Given the description of an element on the screen output the (x, y) to click on. 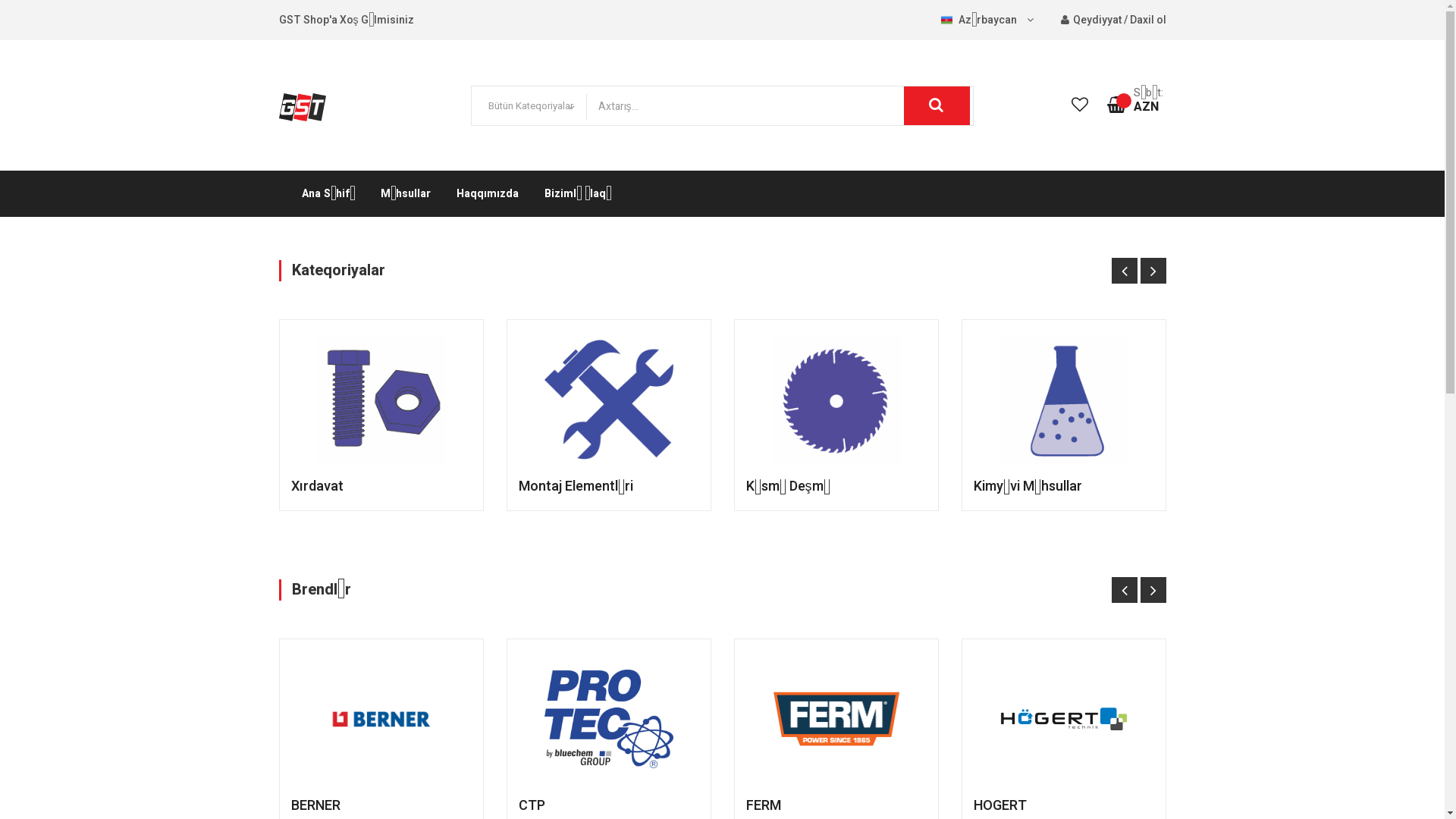
FERM Element type: text (763, 805)
BERNER Element type: text (315, 805)
HOGERT Element type: text (999, 805)
CTP Element type: text (531, 805)
Qeydiyyat / Daxil ol Element type: text (1112, 20)
